Given the description of an element on the screen output the (x, y) to click on. 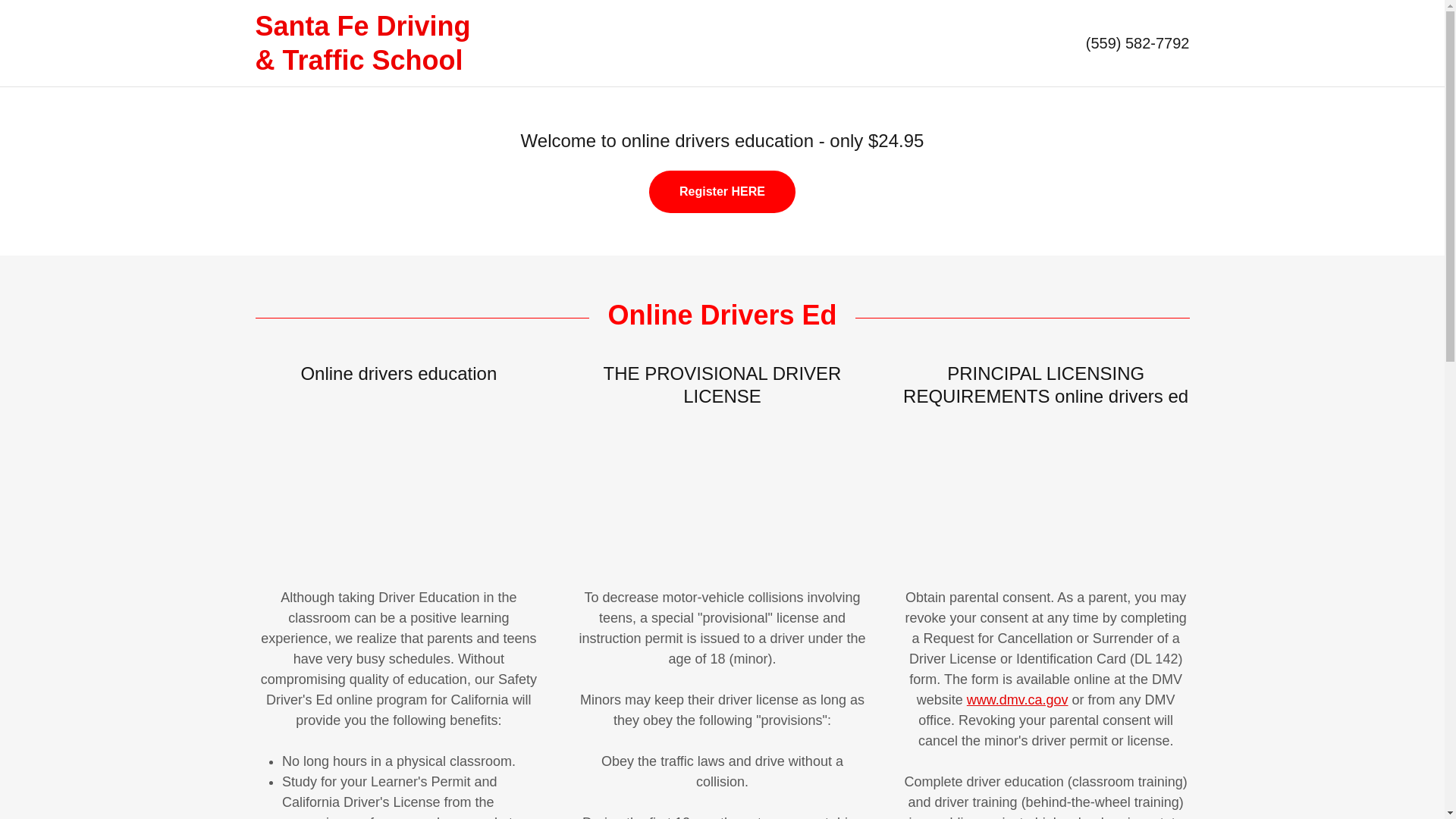
Register HERE (721, 191)
www.dmv.ca.gov (1017, 699)
